Given the description of an element on the screen output the (x, y) to click on. 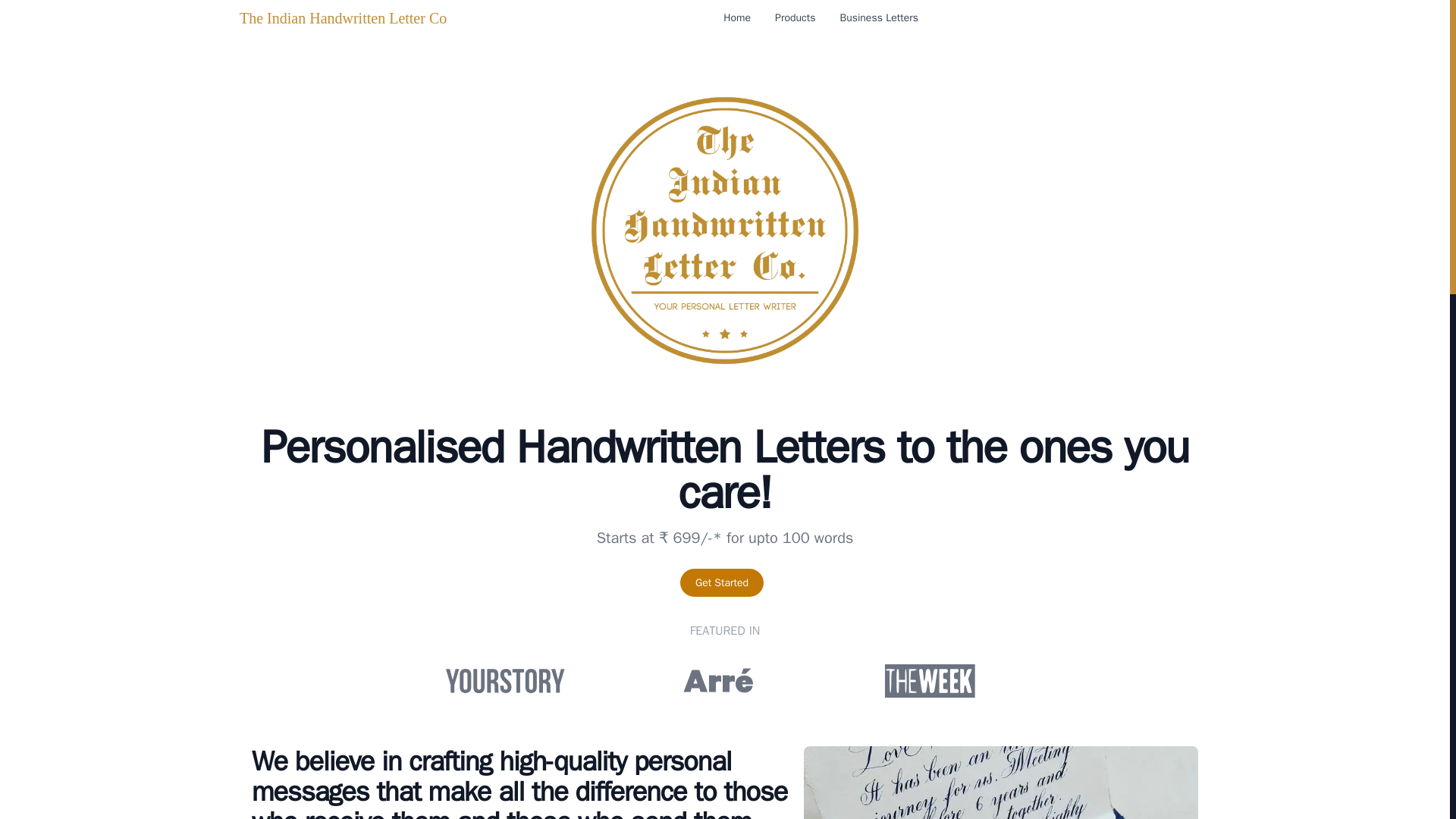
Home (737, 17)
Get Started (720, 582)
The Indian Handwritten Letter Co (343, 17)
Products (794, 17)
Business Letters (878, 17)
